Given the description of an element on the screen output the (x, y) to click on. 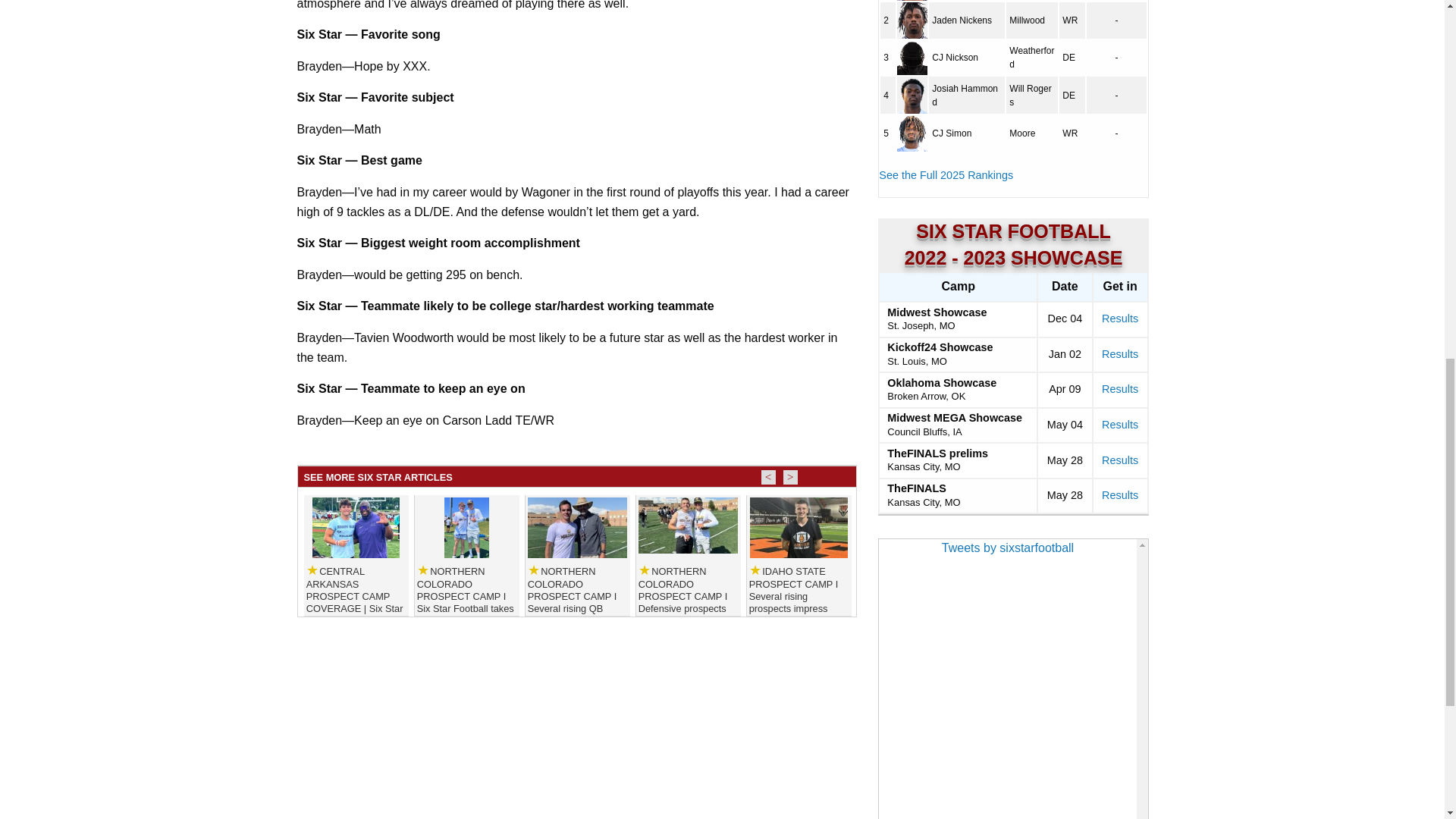
Results (1120, 318)
Results (1120, 388)
Results (1120, 354)
2025 Rankings (946, 174)
Results (1120, 424)
